Given the description of an element on the screen output the (x, y) to click on. 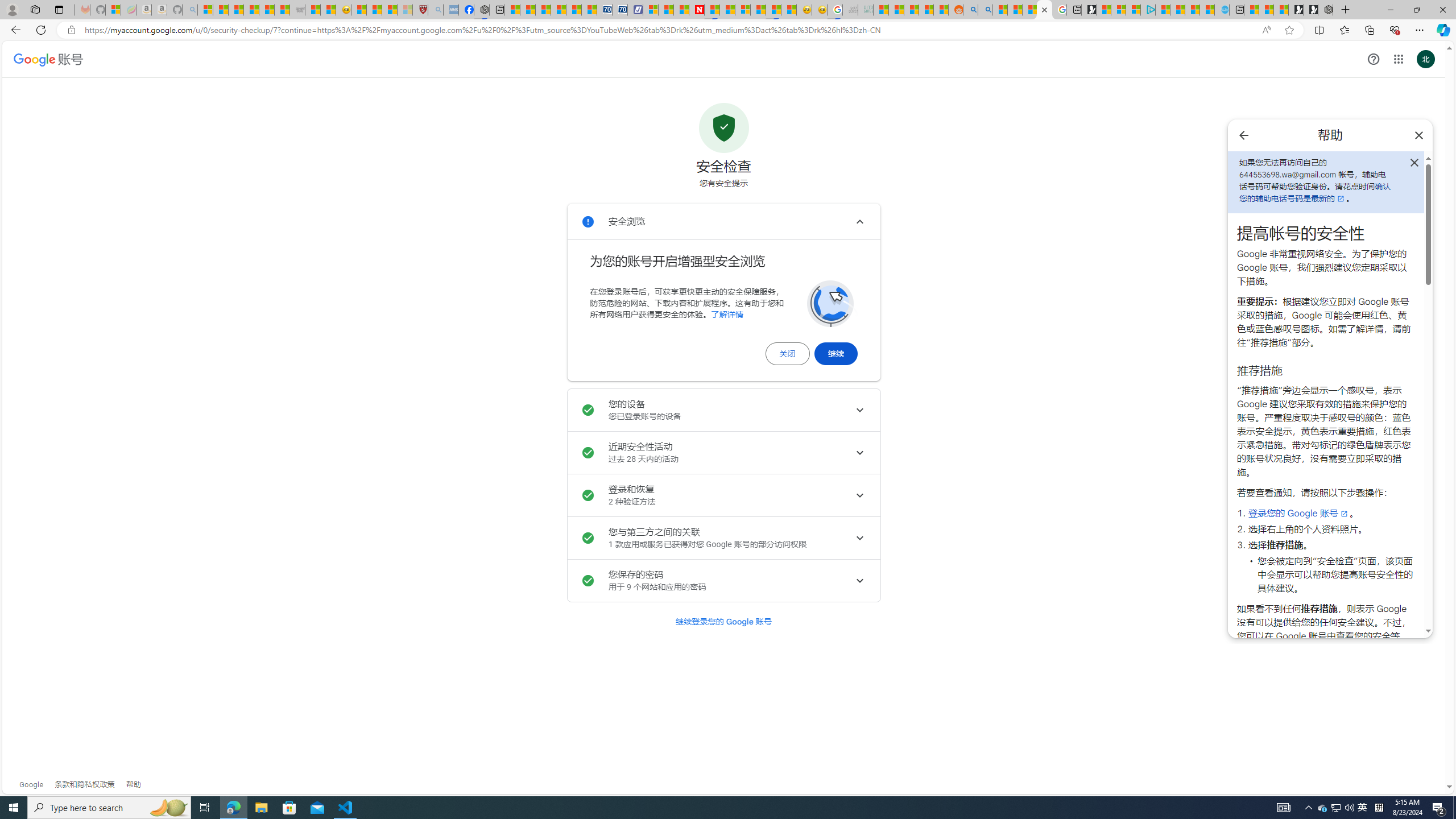
The Weather Channel - MSN (236, 9)
